Given the description of an element on the screen output the (x, y) to click on. 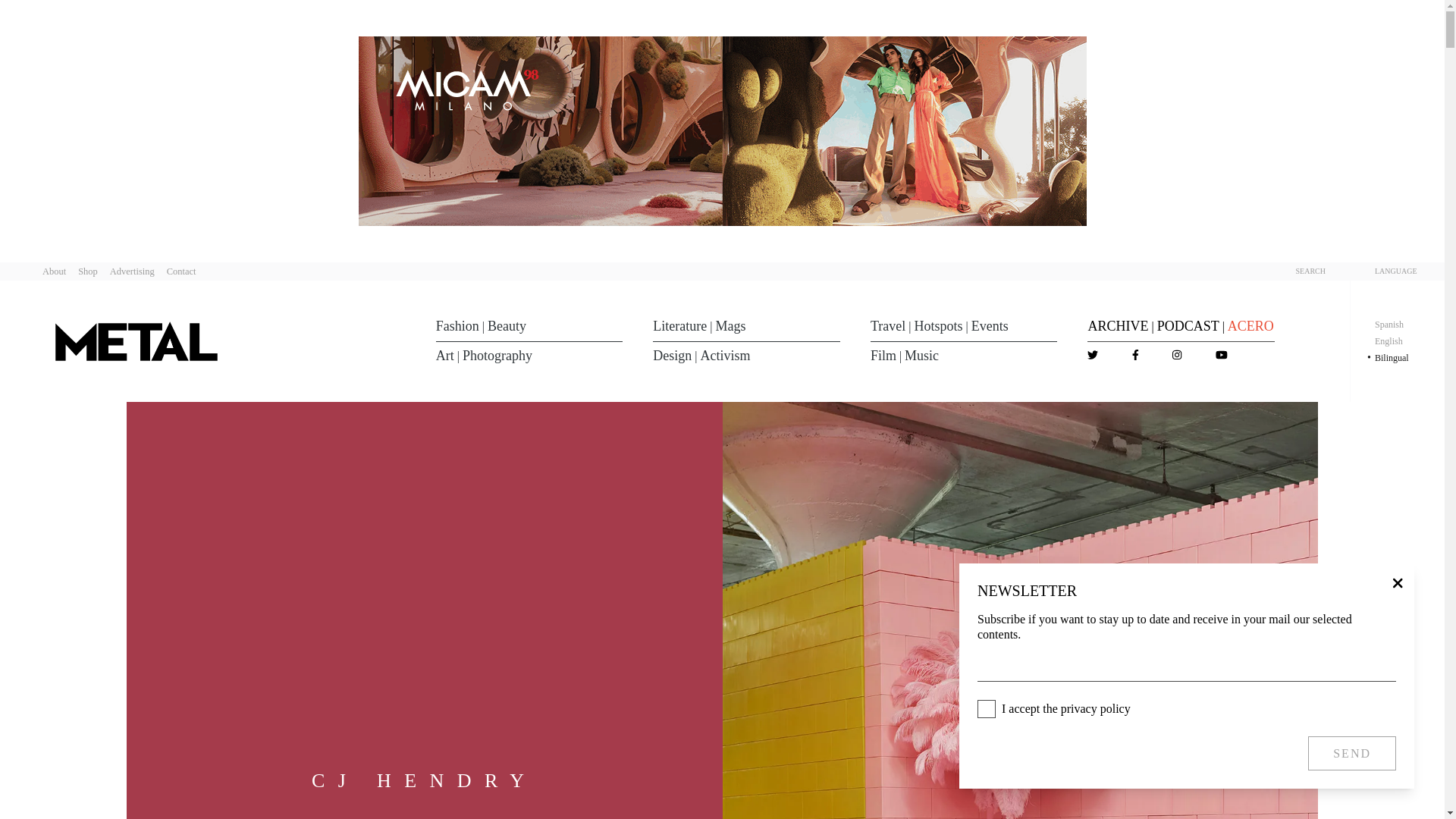
Spanish (1388, 324)
Travel (887, 326)
Advertising (132, 271)
Art (444, 355)
Mags (730, 326)
Events (990, 326)
About (53, 271)
Film (883, 355)
Bilingual (1391, 357)
ARCHIVE (1117, 326)
Contact (181, 271)
Music (921, 355)
Activism (725, 355)
PODCAST (1188, 326)
Literature (679, 326)
